Given the description of an element on the screen output the (x, y) to click on. 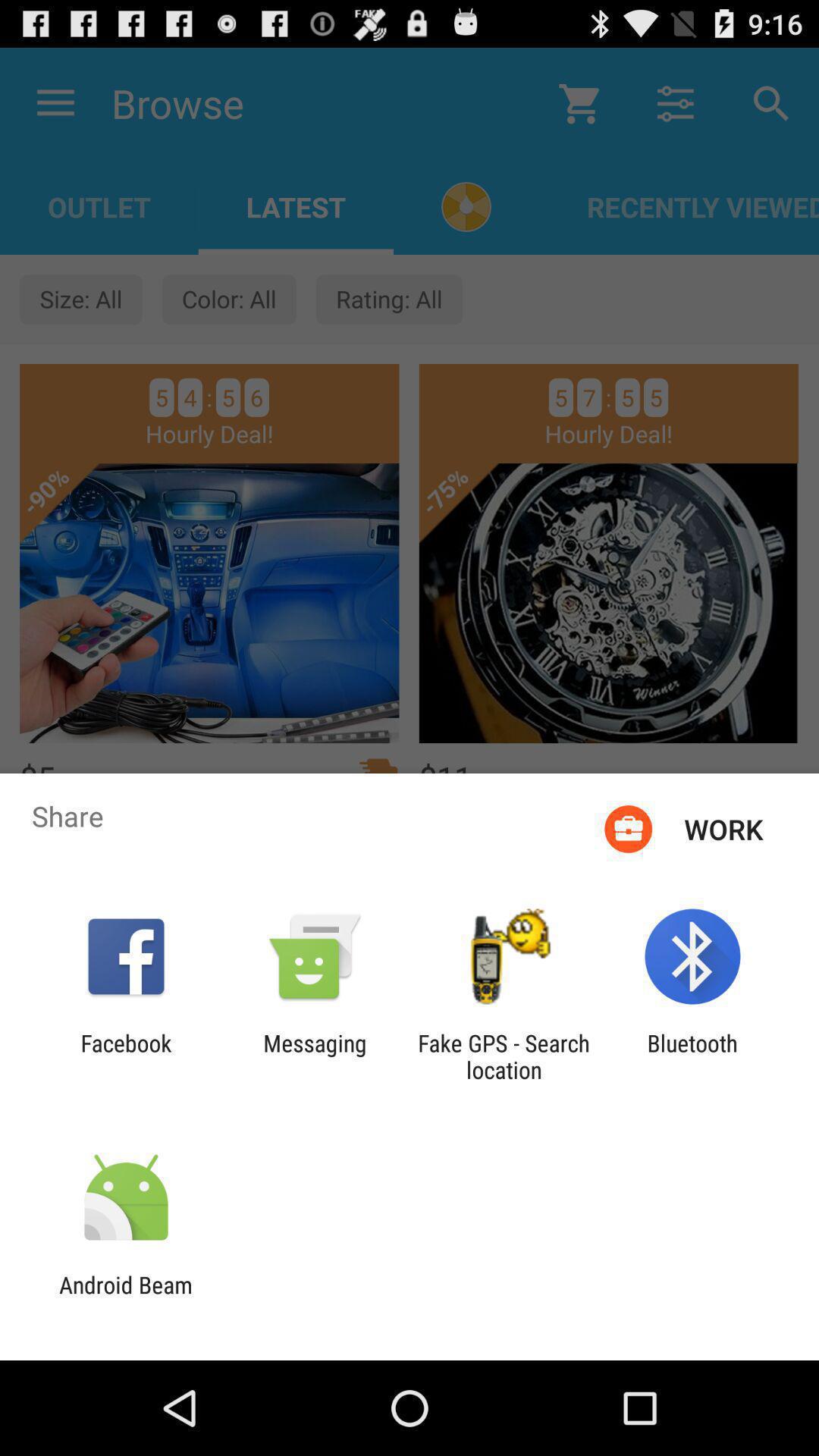
launch item to the left of bluetooth (503, 1056)
